Given the description of an element on the screen output the (x, y) to click on. 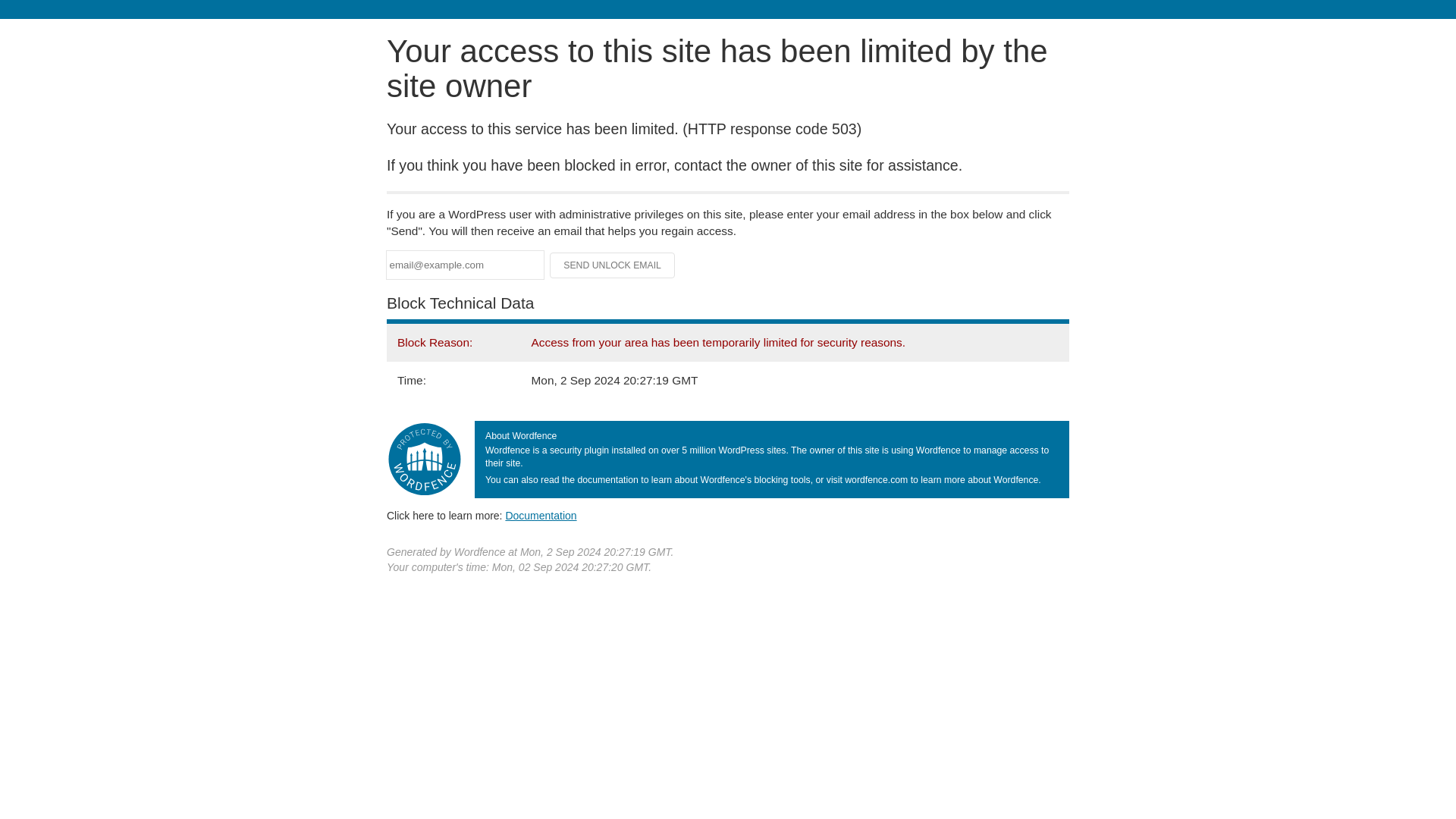
Documentation (540, 515)
Send Unlock Email (612, 265)
Send Unlock Email (612, 265)
